Given the description of an element on the screen output the (x, y) to click on. 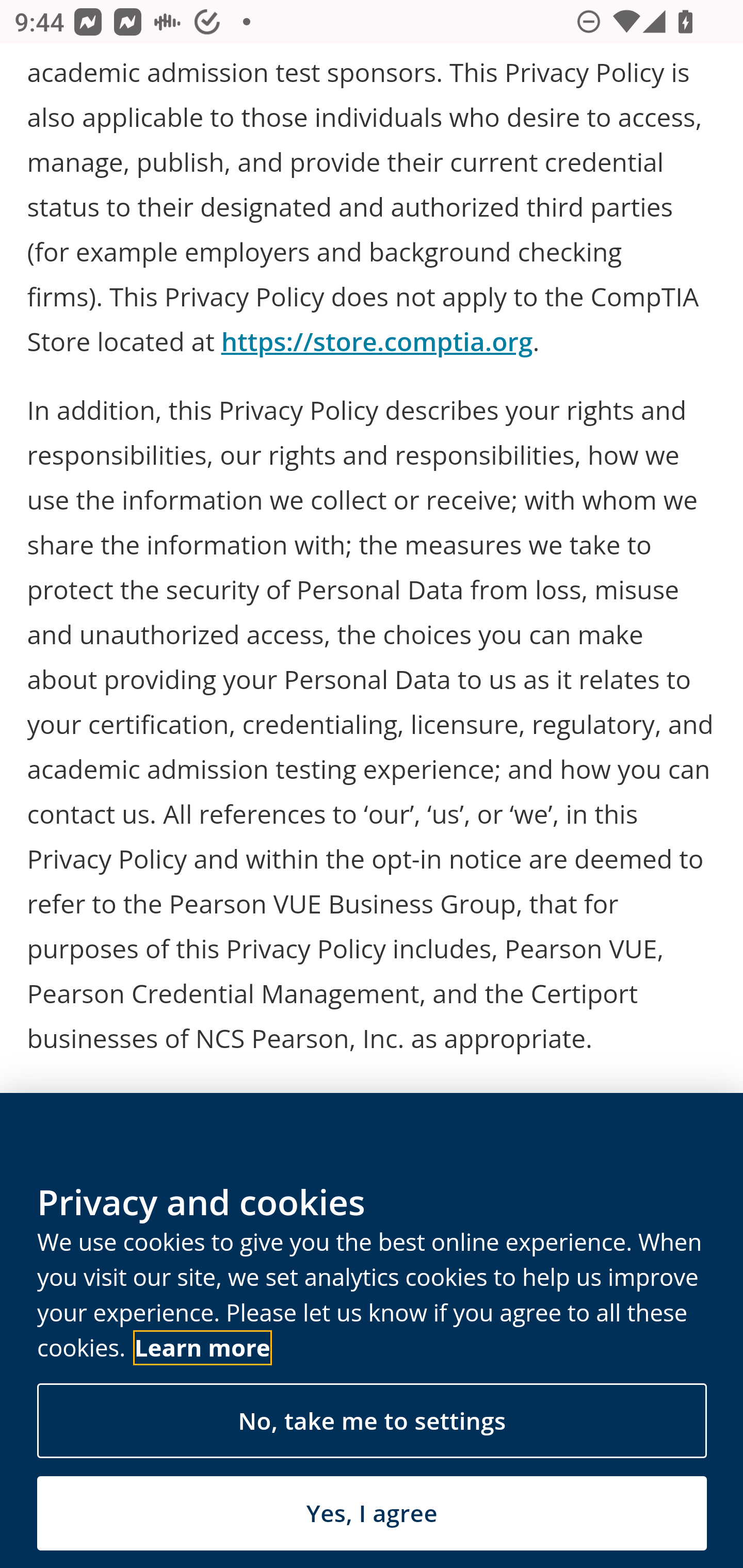
https://store.comptia.org (377, 343)
No, take me to settings (372, 1423)
Yes, I agree (372, 1515)
